Given the description of an element on the screen output the (x, y) to click on. 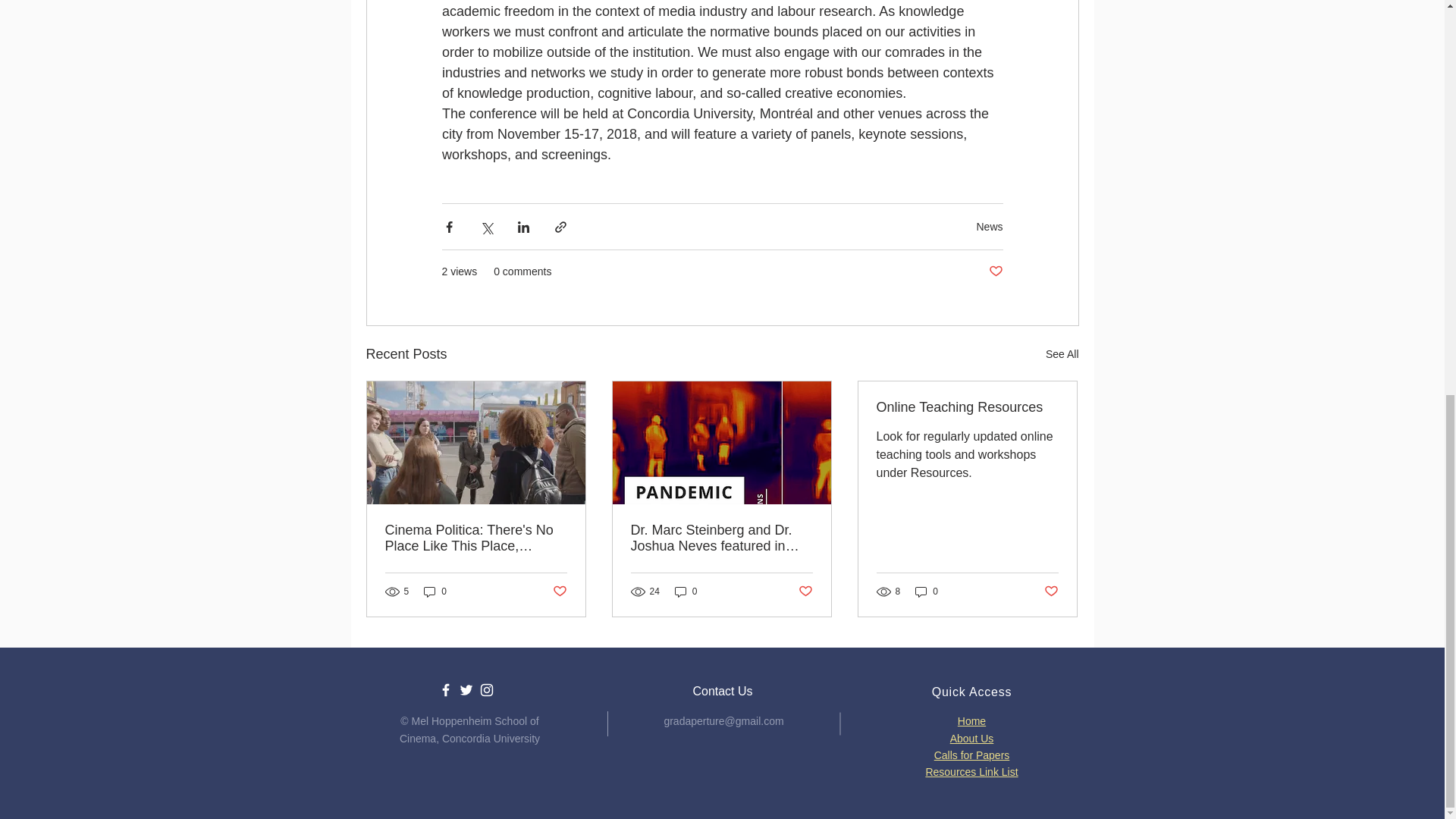
See All (1061, 354)
Post not marked as liked (804, 591)
News (989, 225)
Post not marked as liked (995, 271)
0 (685, 590)
Post not marked as liked (558, 591)
0 (435, 590)
Cinema Politica: There's No Place Like This Place, Anyplace (476, 538)
